Given the description of an element on the screen output the (x, y) to click on. 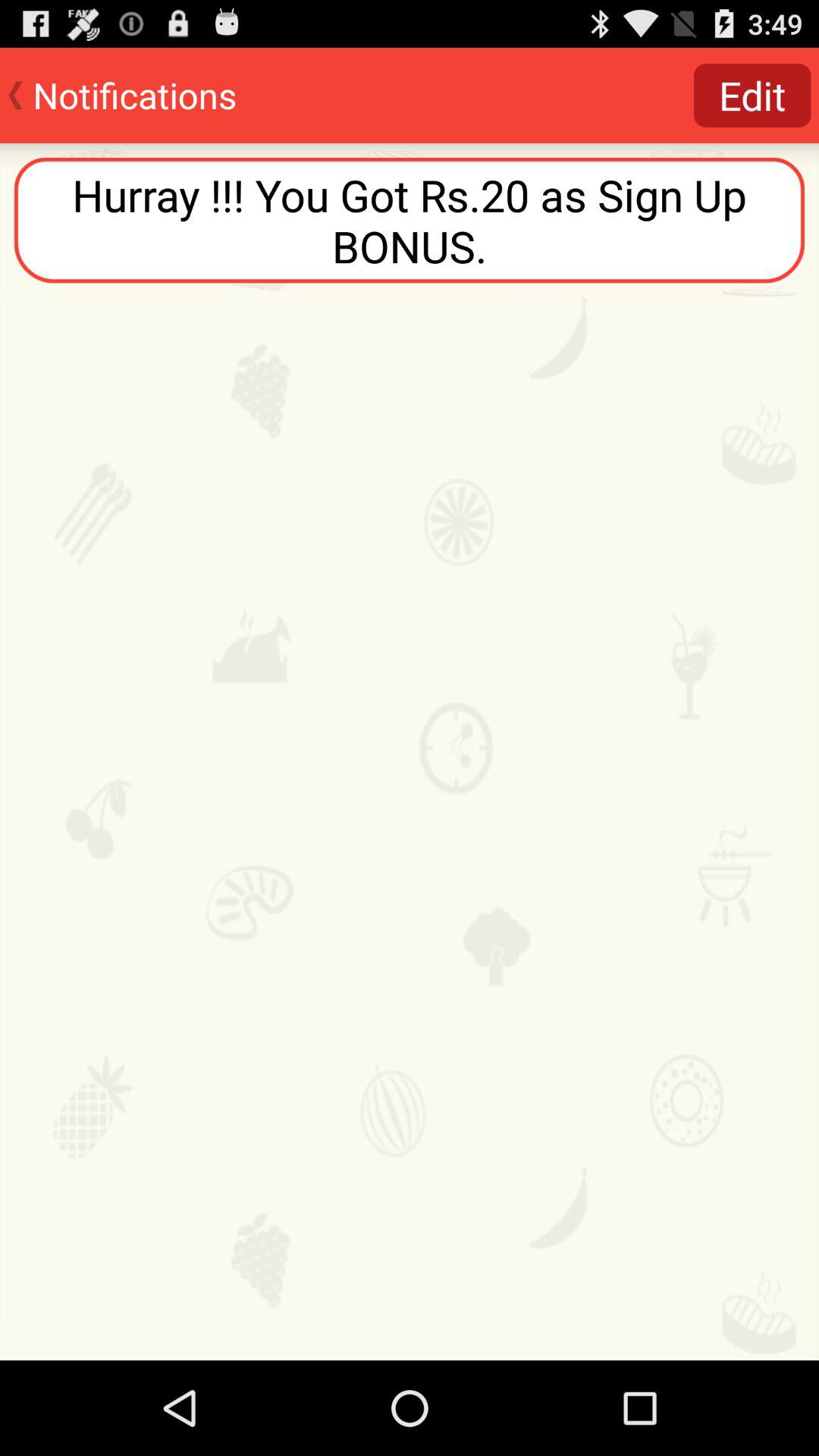
tap item below    edit    button (409, 220)
